Given the description of an element on the screen output the (x, y) to click on. 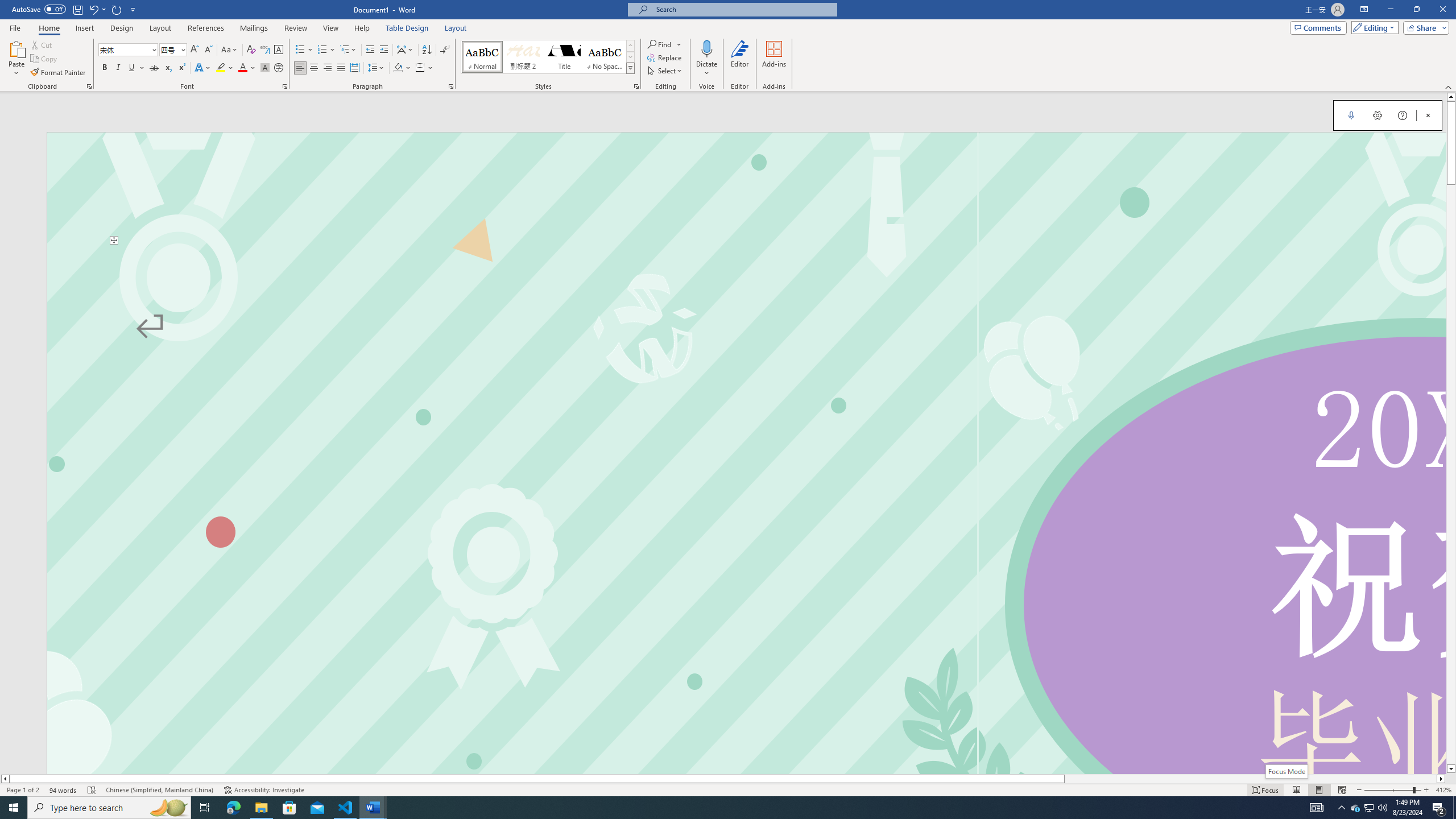
Start Dictation (1350, 115)
